Given the description of an element on the screen output the (x, y) to click on. 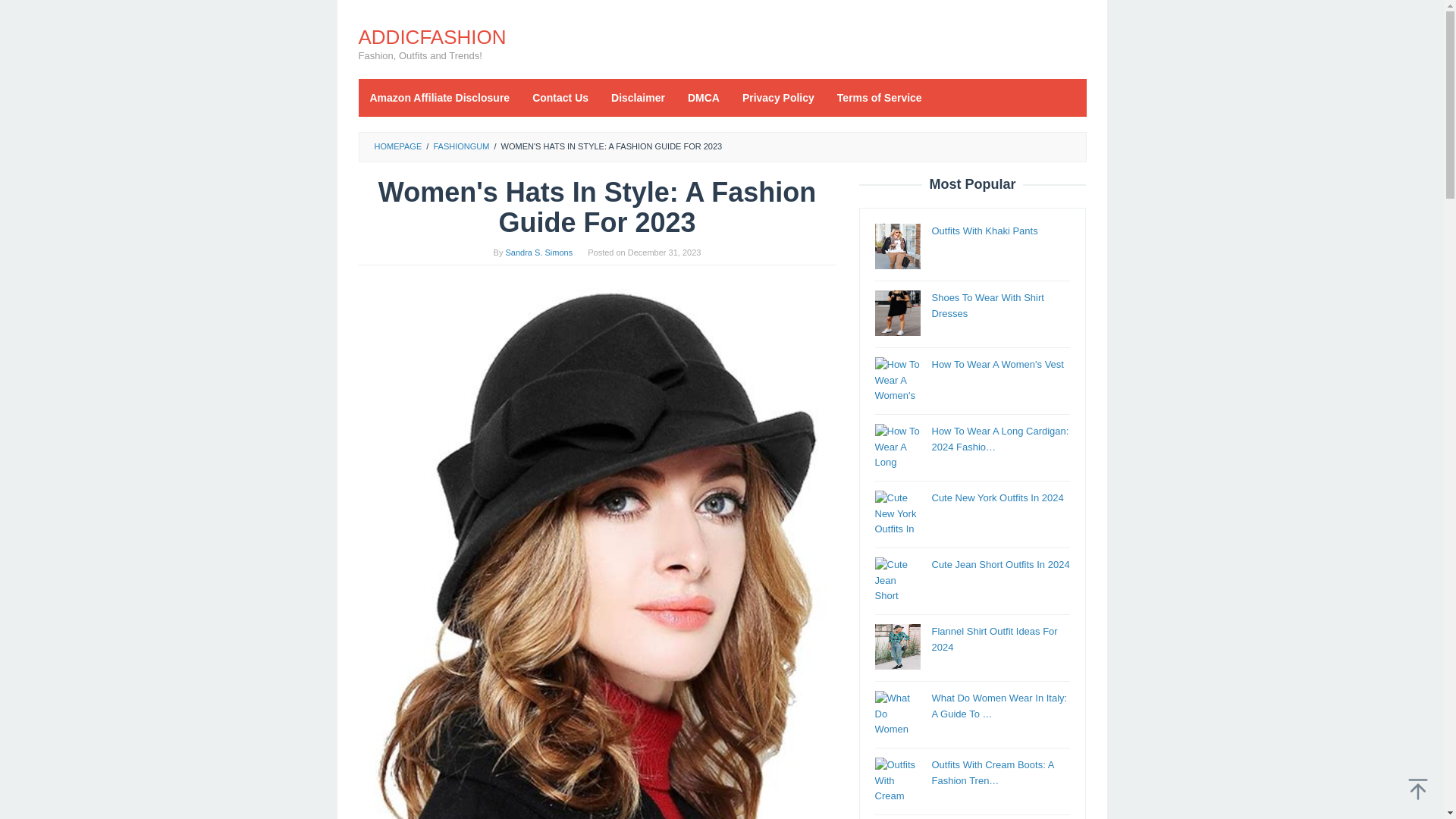
ADDICFASHION (431, 36)
Permalink to: Sandra S. Simons (539, 252)
Cute New York Outfits In 2024 (996, 497)
HOMEPAGE (398, 145)
Sandra S. Simons (539, 252)
Cute Jean Short Outfits In 2024 (999, 564)
Outfits With Khaki Pants (983, 230)
Amazon Affiliate Disclosure (439, 97)
FASHIONGUM (460, 145)
Terms of Service (879, 97)
Shoes To Wear With Shirt Dresses (987, 305)
Flannel Shirt Outfit Ideas For 2024 (994, 638)
ADDICFASHION (431, 36)
How To Wear A Women's Vest (996, 364)
Privacy Policy (777, 97)
